Given the description of an element on the screen output the (x, y) to click on. 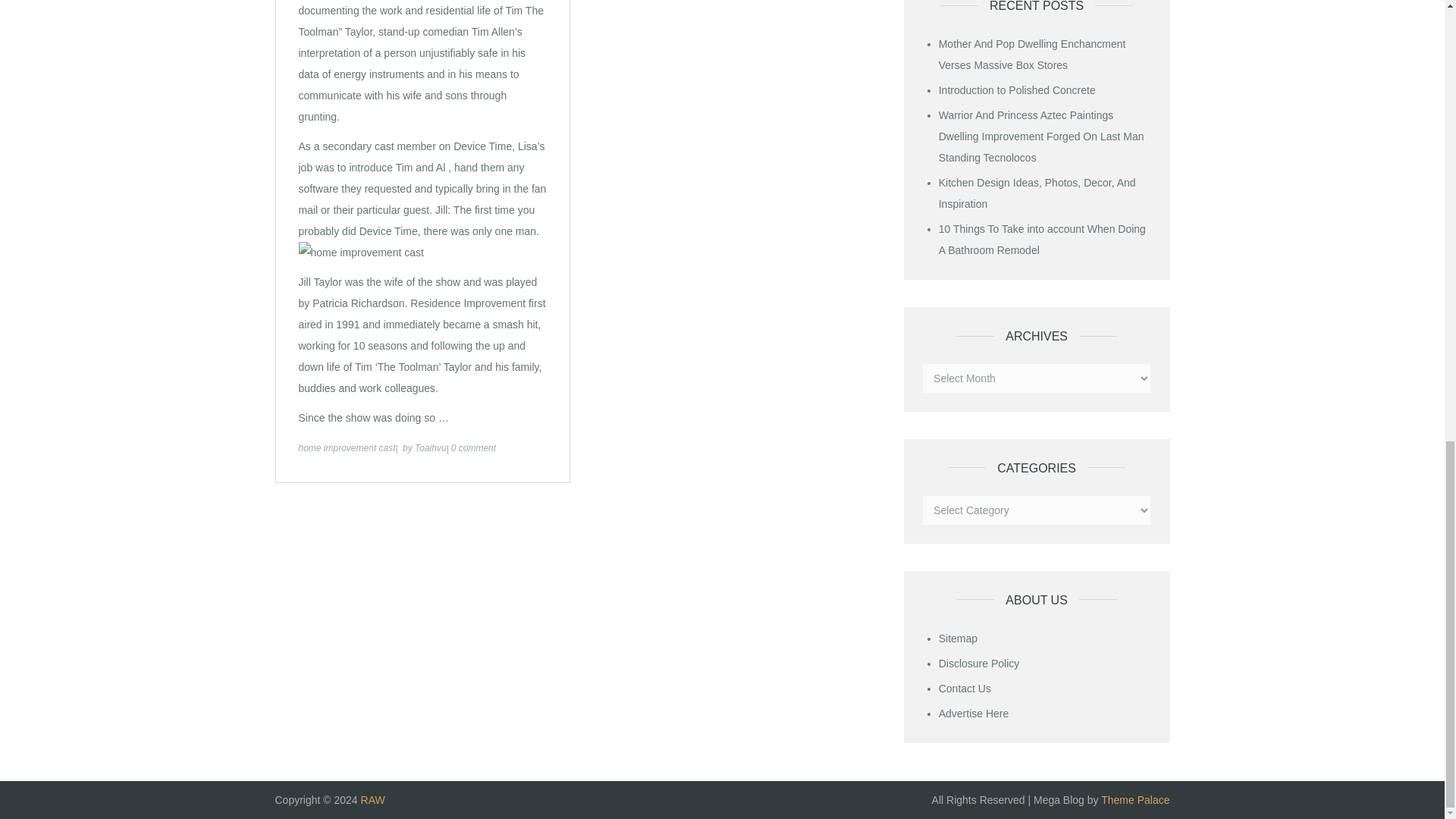
home improvement cast (347, 448)
Toaihvu (430, 448)
0 comment (473, 448)
